Given the description of an element on the screen output the (x, y) to click on. 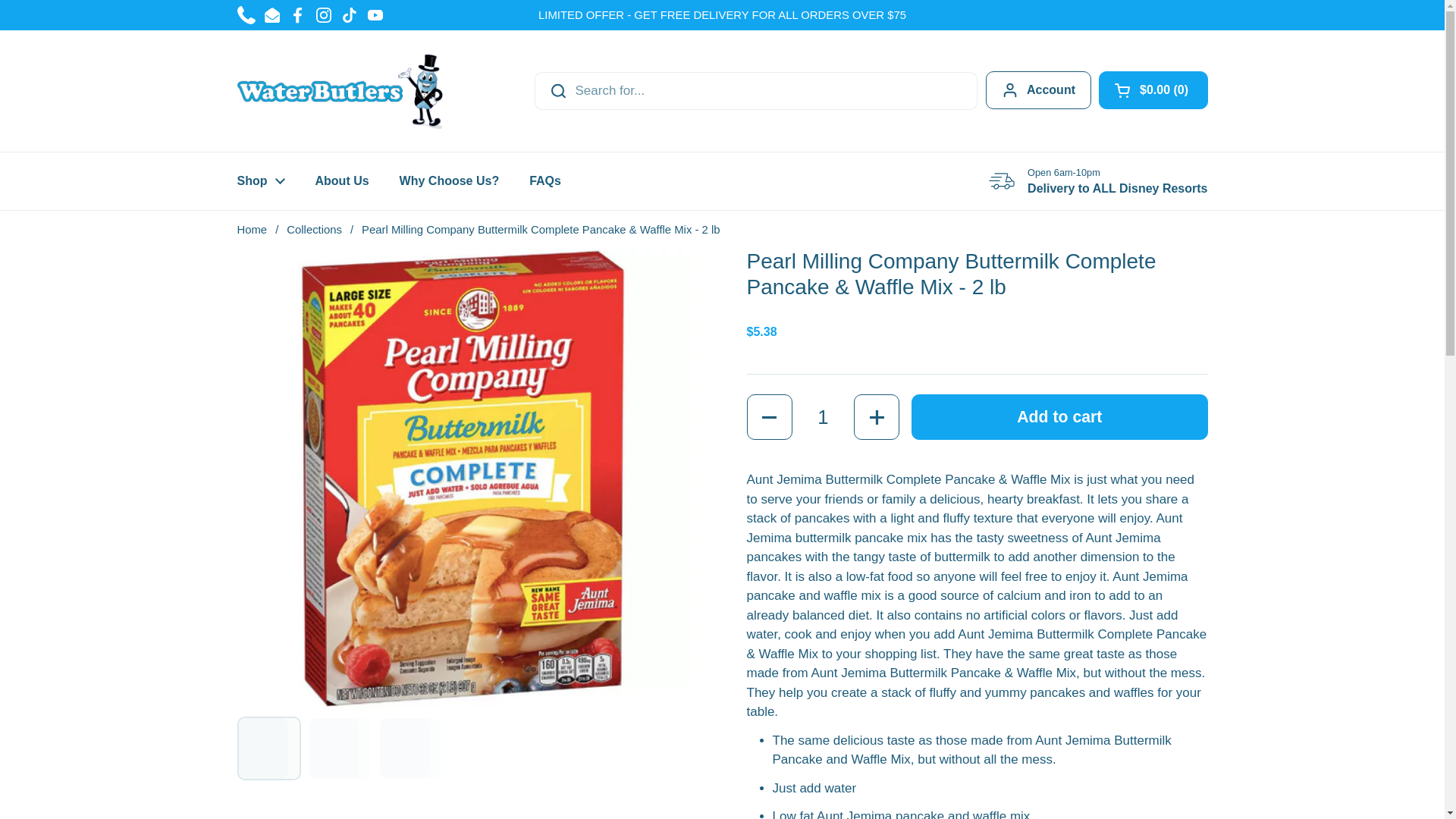
Shop (260, 181)
Open cart (1153, 89)
Facebook (296, 14)
Phone (244, 14)
1 (822, 416)
Shop (260, 181)
Instagram (322, 14)
Water Butlers (338, 90)
TikTok (348, 14)
Email (271, 14)
